Given the description of an element on the screen output the (x, y) to click on. 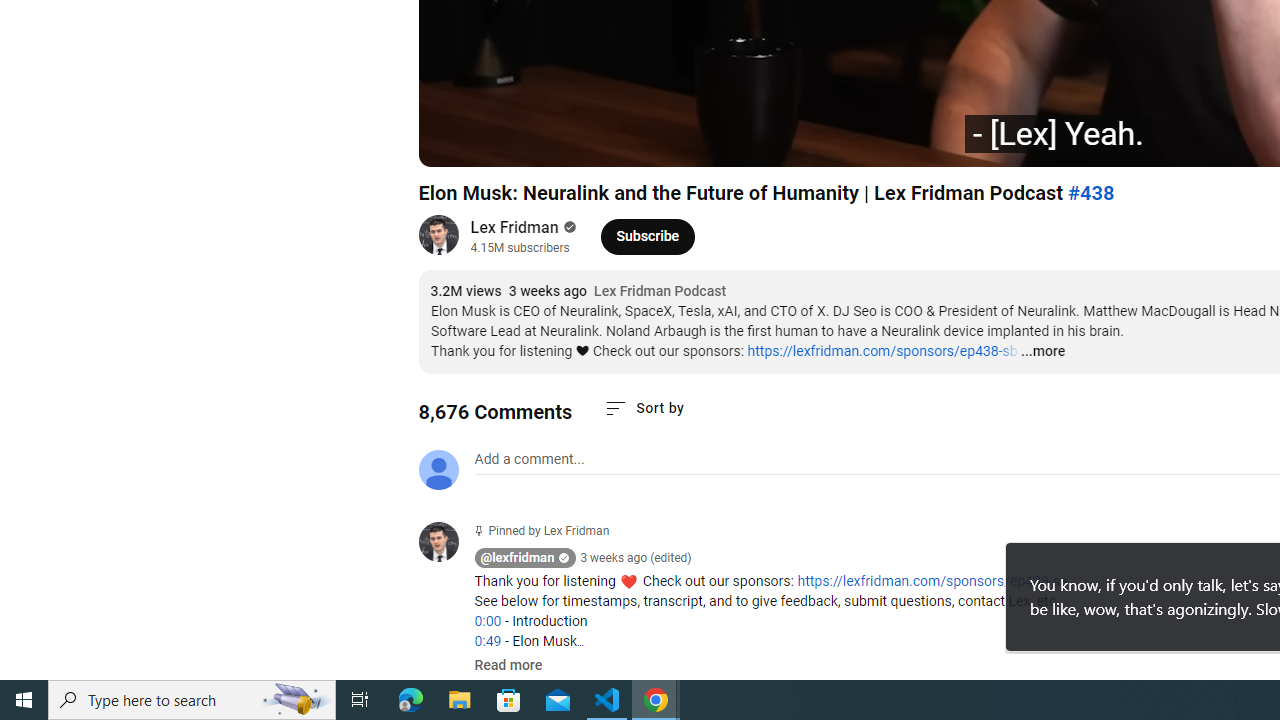
Next (SHIFT+n) (500, 142)
Default profile photo (438, 470)
...more (1042, 352)
Mute (m) (548, 142)
3 weeks ago (edited) (635, 557)
#438 (1090, 193)
0:49 (487, 641)
